Given the description of an element on the screen output the (x, y) to click on. 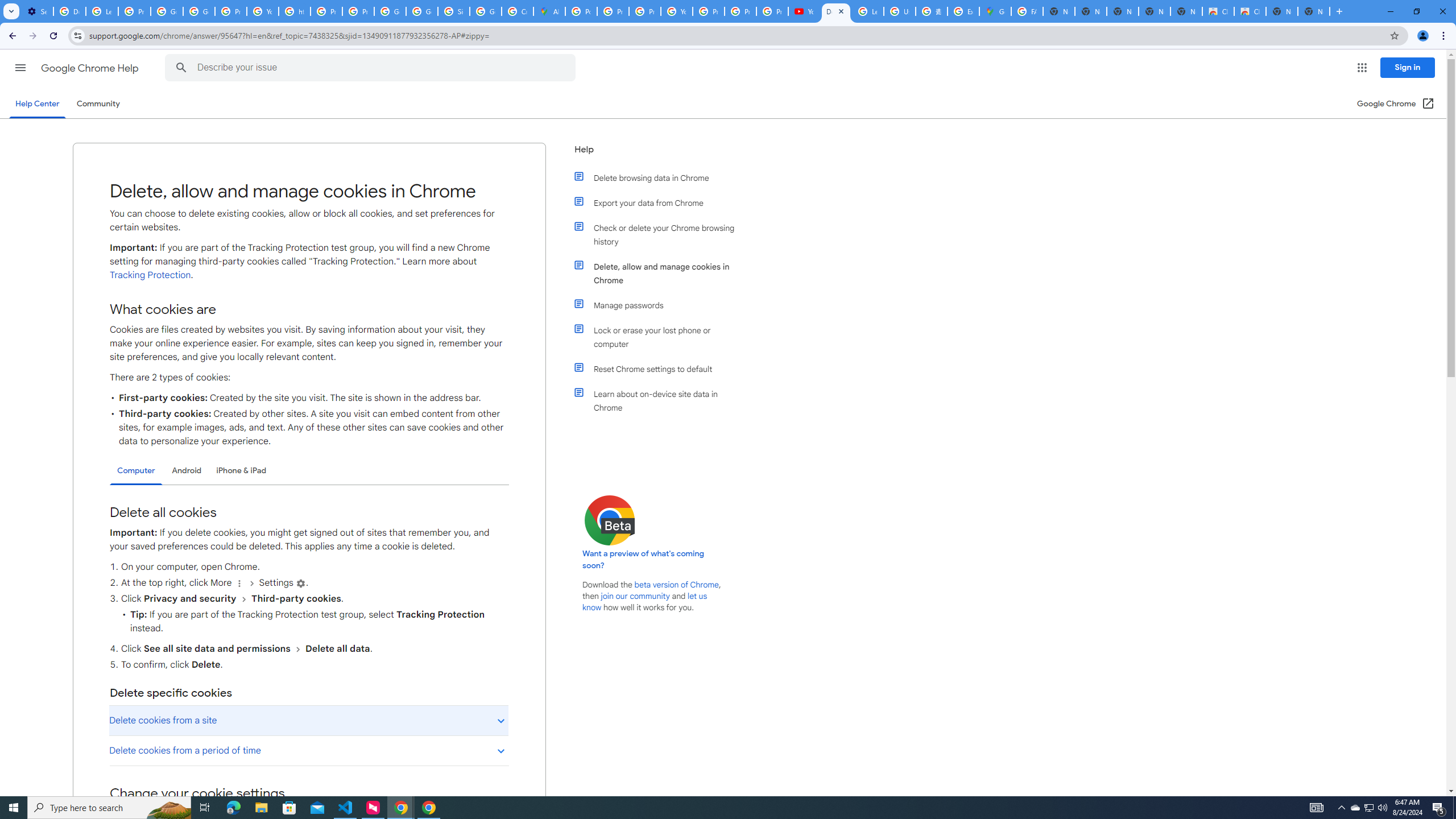
More (239, 583)
Google Chrome Help (90, 68)
Chrome Beta logo (609, 520)
